Given the description of an element on the screen output the (x, y) to click on. 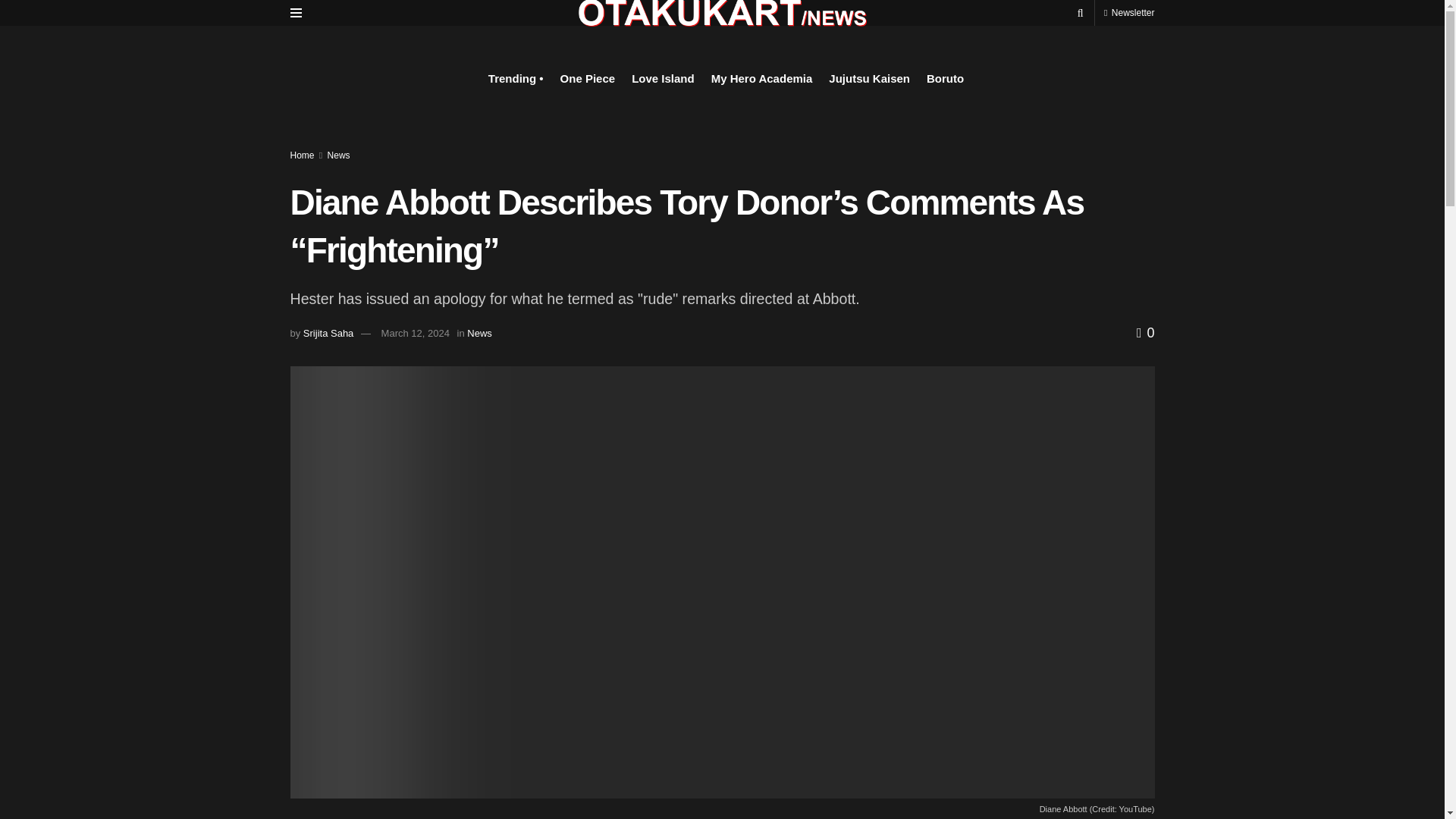
Boruto (944, 78)
One Piece (587, 78)
Jujutsu Kaisen (869, 78)
News (338, 154)
March 12, 2024 (415, 333)
Newsletter (1128, 12)
Srijita Saha (327, 333)
0 (1145, 332)
Home (301, 154)
Love Island (662, 78)
